Given the description of an element on the screen output the (x, y) to click on. 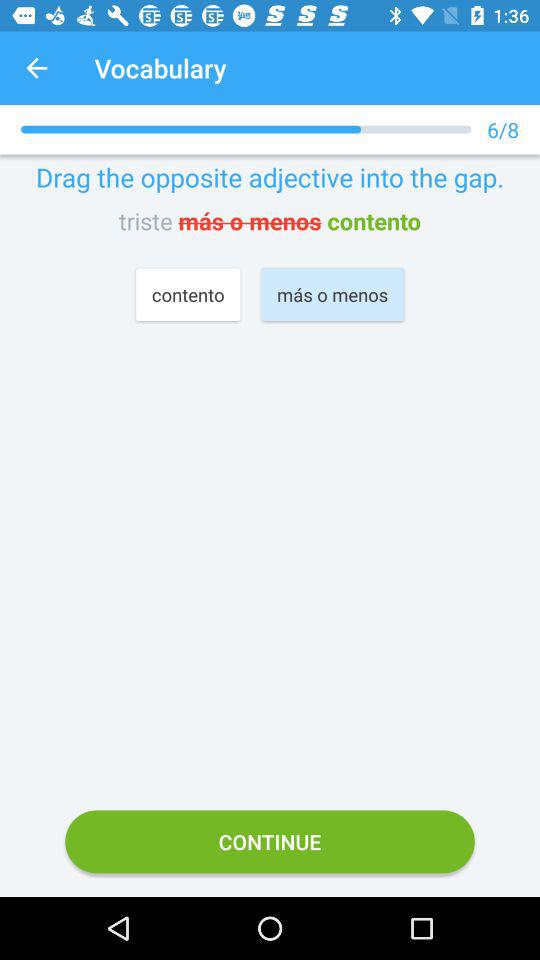
tap the continue item (269, 841)
